Given the description of an element on the screen output the (x, y) to click on. 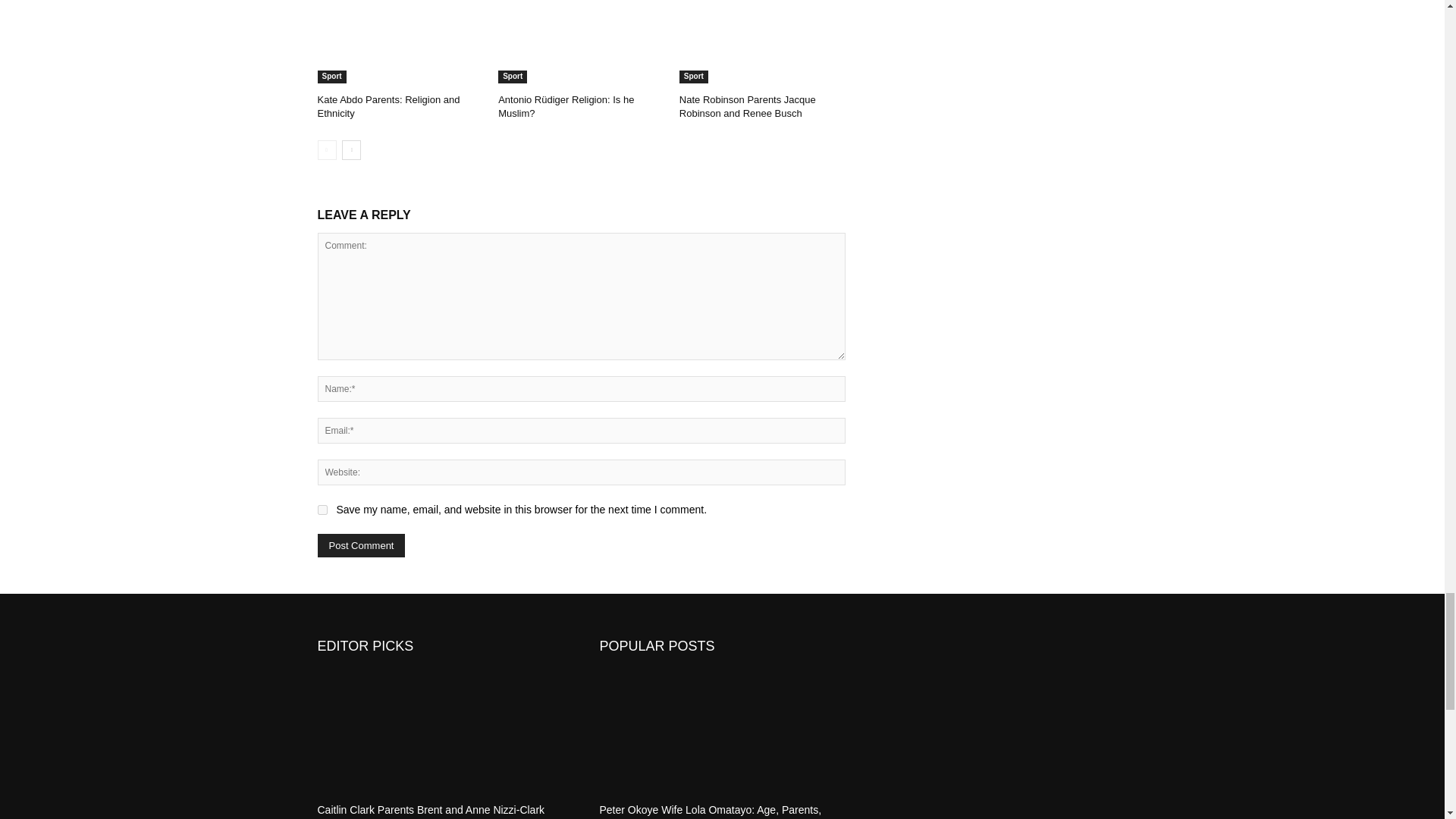
yes (321, 510)
Post Comment (360, 545)
